Given the description of an element on the screen output the (x, y) to click on. 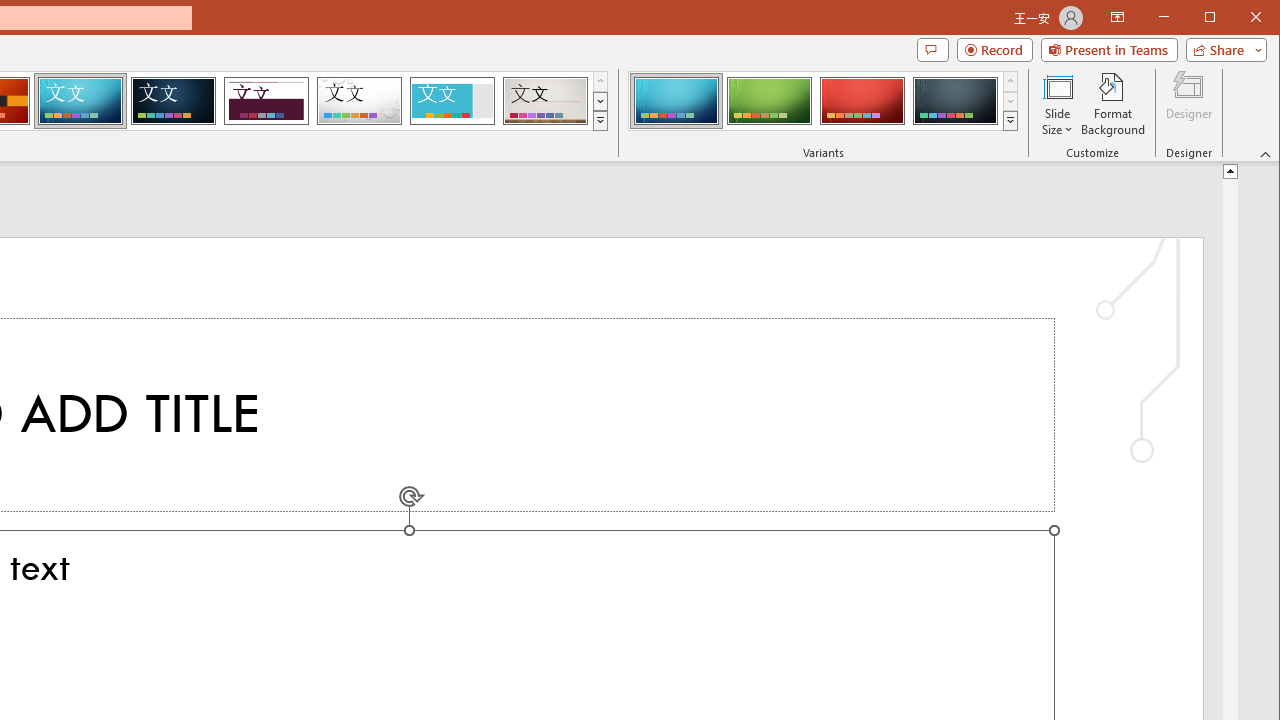
Gallery (545, 100)
Frame (452, 100)
AutomationID: ThemeVariantsGallery (824, 101)
Droplet (359, 100)
Circuit Variant 4 (955, 100)
Circuit Variant 3 (862, 100)
Variants (1010, 120)
Circuit (80, 100)
Dividend (266, 100)
